Given the description of an element on the screen output the (x, y) to click on. 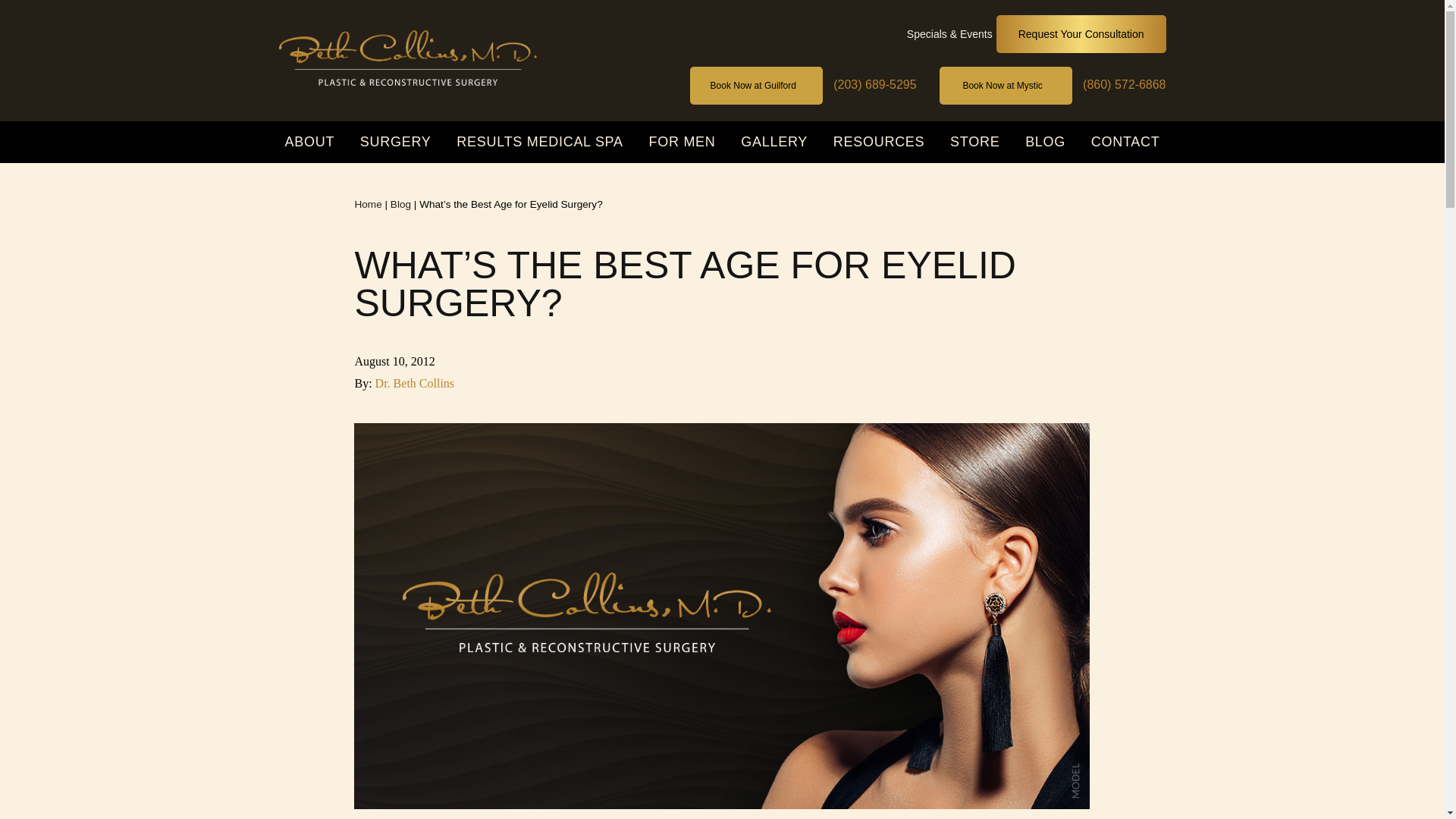
Book Now at Guilford (756, 85)
ABOUT (309, 141)
Book Now at Mystic (1005, 85)
Go to Beth Collins M.D.. (367, 204)
RESULTS MEDICAL SPA (538, 141)
Request Your Consultation (1080, 34)
Go to Blog. (400, 204)
FOR MEN (682, 141)
View all posts by Dr. Beth Collins (414, 382)
SURGERY (395, 141)
